Given the description of an element on the screen output the (x, y) to click on. 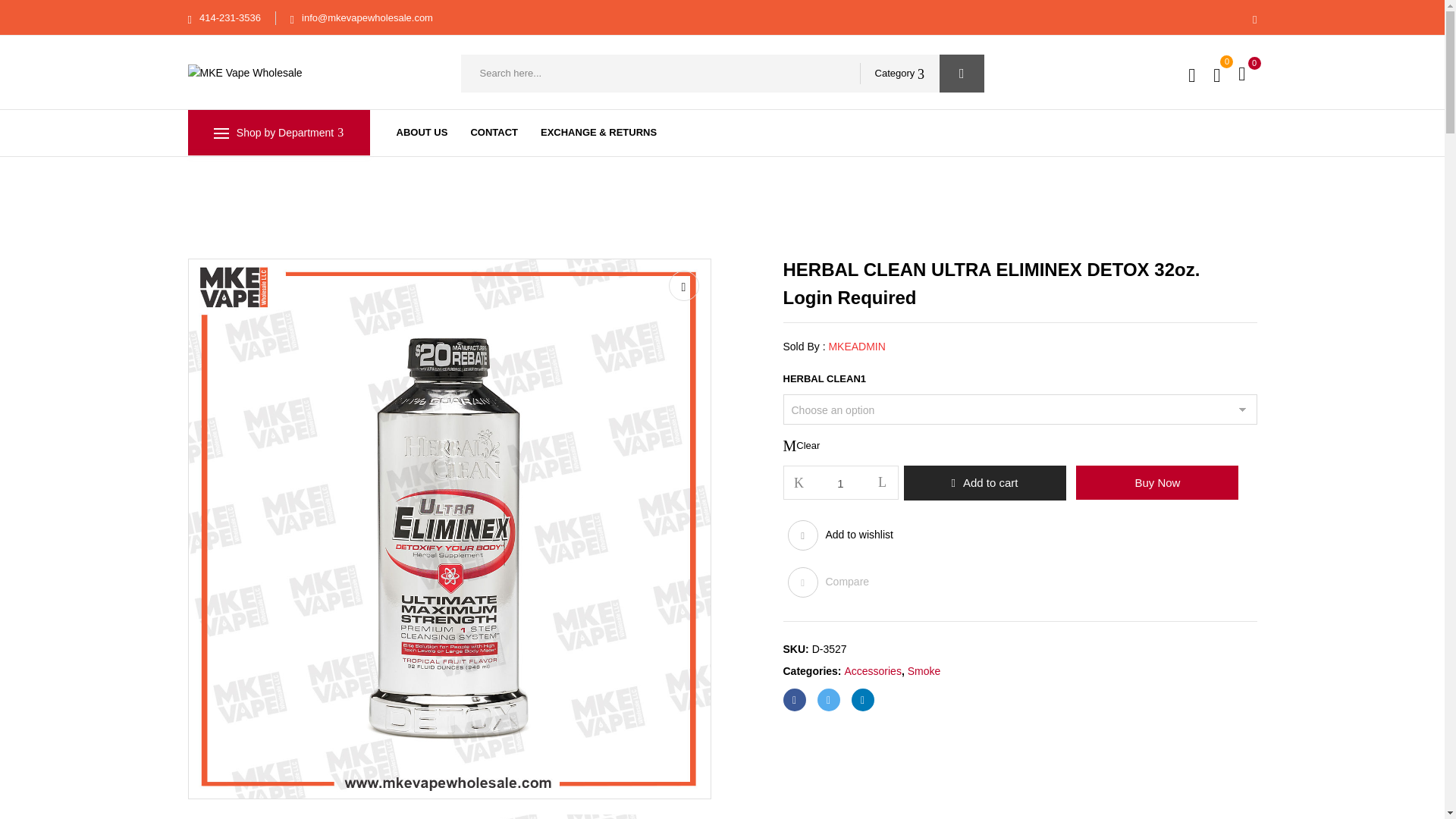
search (961, 73)
Twitter (828, 699)
Facebook (794, 699)
414-231-3536 (229, 17)
1 (841, 483)
LinkedIn (861, 699)
